Given the description of an element on the screen output the (x, y) to click on. 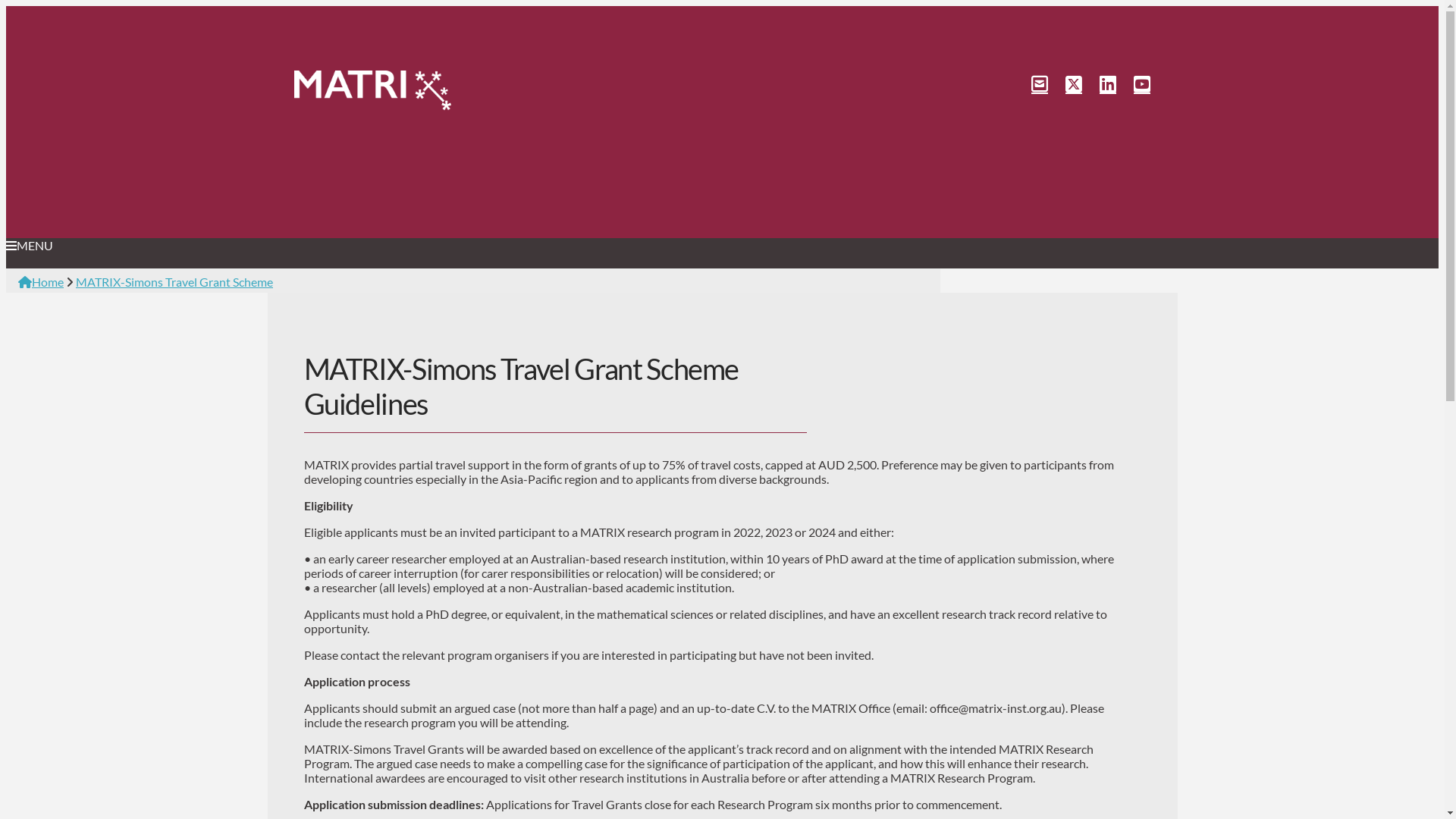
MATRIX-Simons Travel Grant Scheme Element type: text (174, 281)
YouTube Element type: hover (1133, 83)
MENU Element type: text (461, 245)
LinkedIn Element type: hover (1099, 83)
X / Twitter Element type: hover (1065, 83)
Home Element type: text (40, 281)
